Given the description of an element on the screen output the (x, y) to click on. 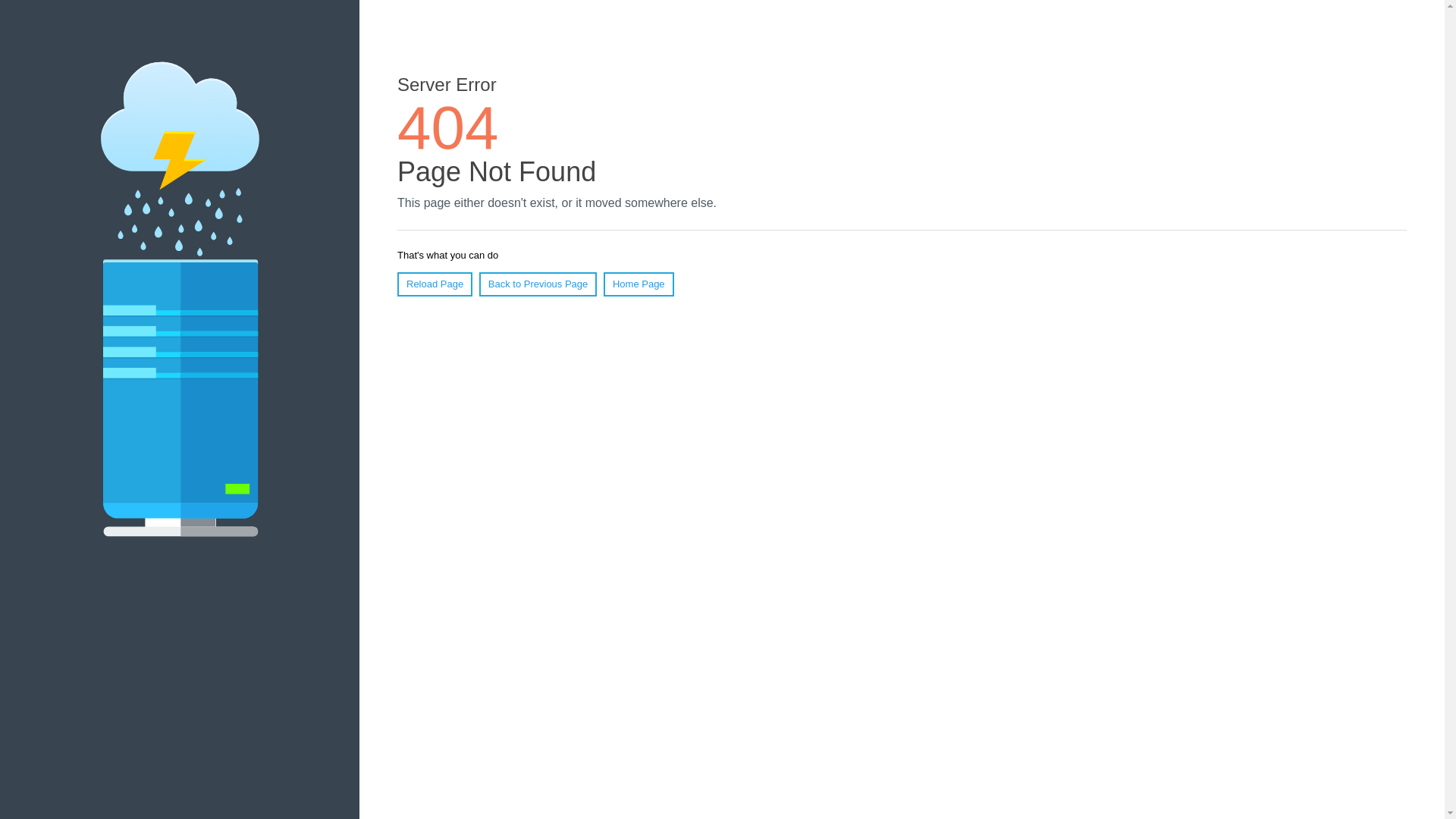
Back to Previous Page Element type: text (538, 284)
Home Page Element type: text (638, 284)
Reload Page Element type: text (434, 284)
